Given the description of an element on the screen output the (x, y) to click on. 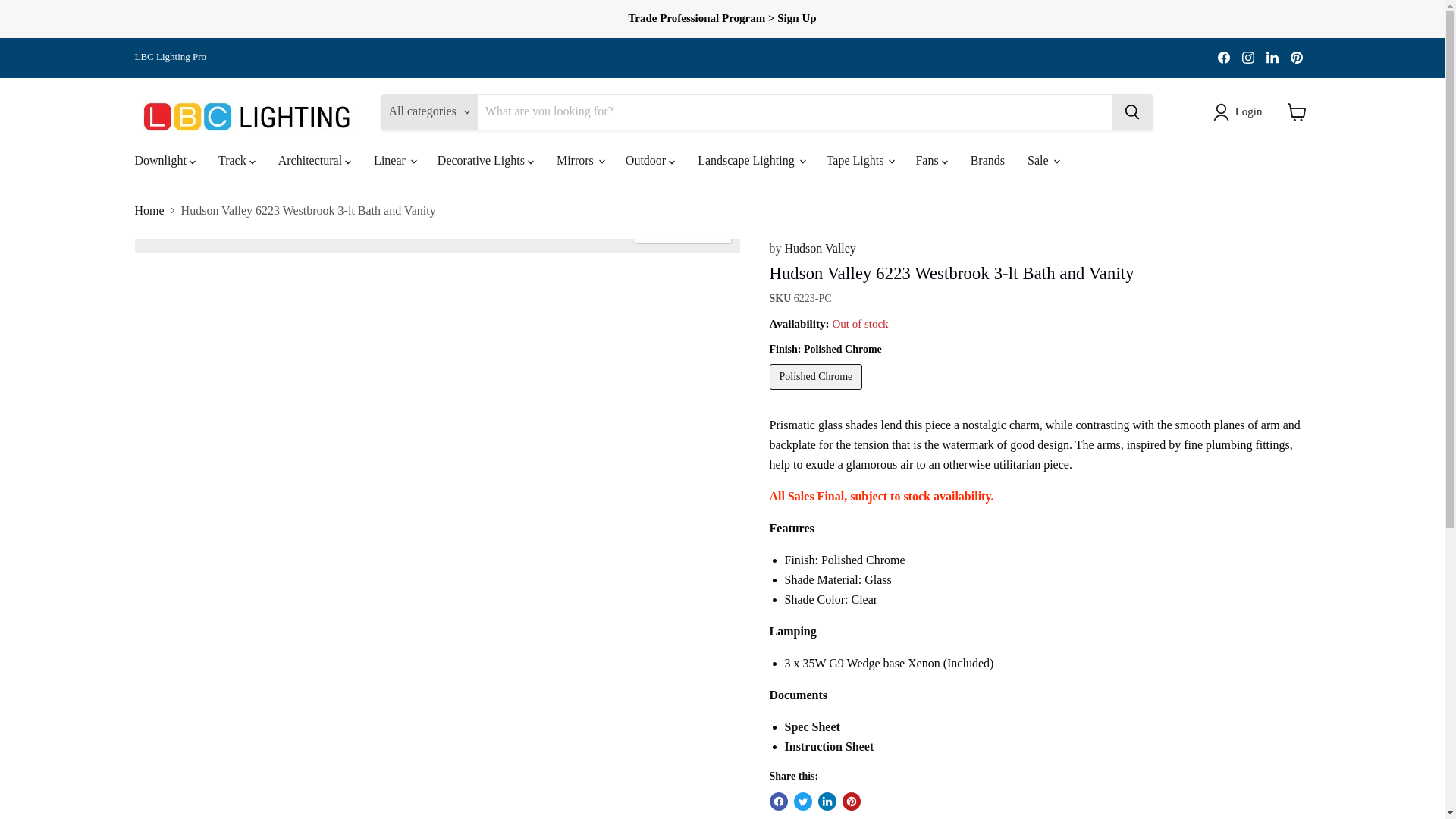
Spec Sheet (812, 726)
Find us on Facebook (1223, 56)
Find us on Instagram (1248, 56)
LBC Lighting Pro (170, 57)
View cart (1296, 111)
Instagram (1248, 56)
LinkedIn (1272, 56)
Find us on Pinterest (1296, 56)
Find us on LinkedIn (1272, 56)
Facebook (1223, 56)
